Given the description of an element on the screen output the (x, y) to click on. 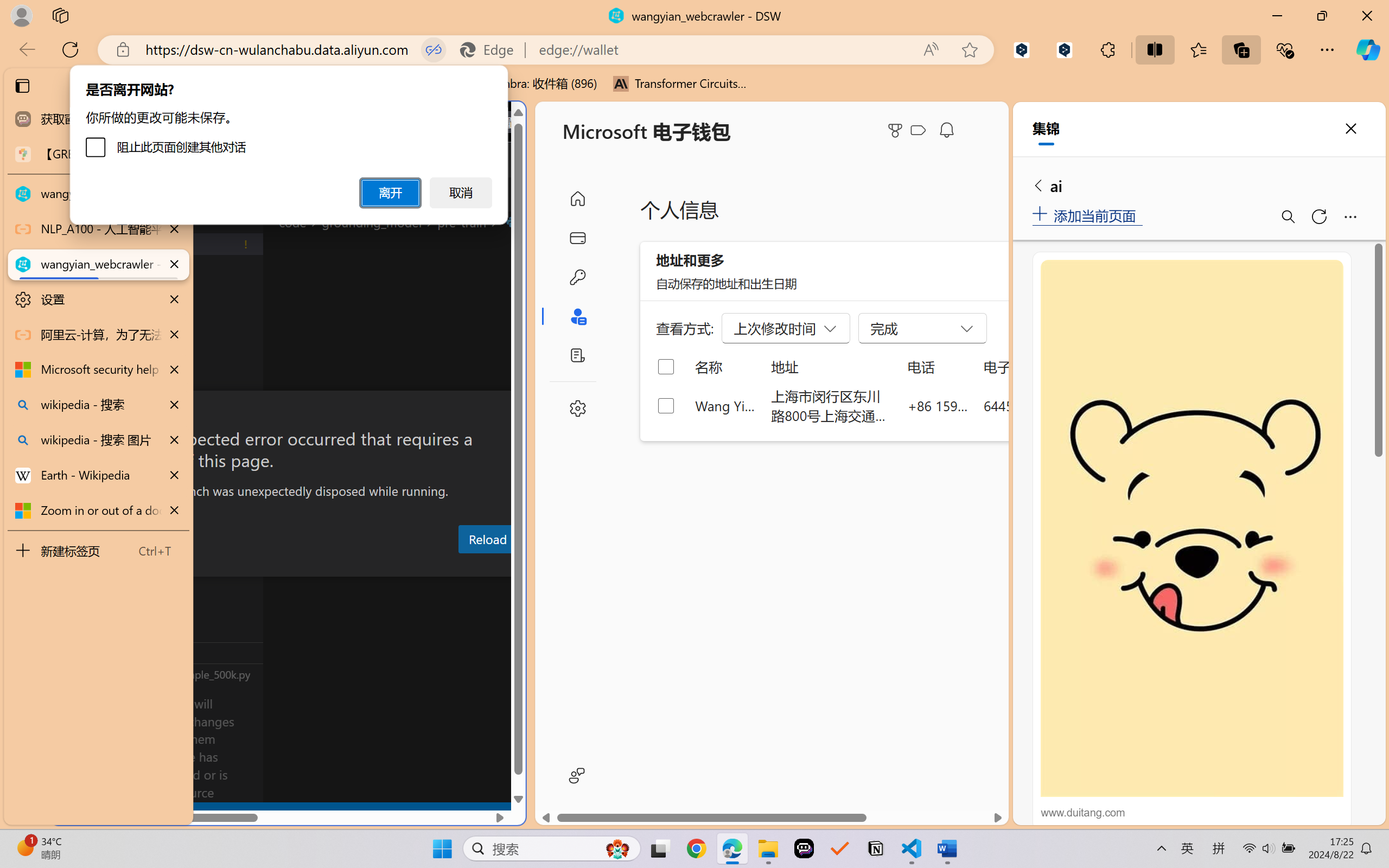
Run and Debug (Ctrl+Shift+D) (73, 375)
Manage (73, 778)
Earth - Wikipedia (97, 475)
